Given the description of an element on the screen output the (x, y) to click on. 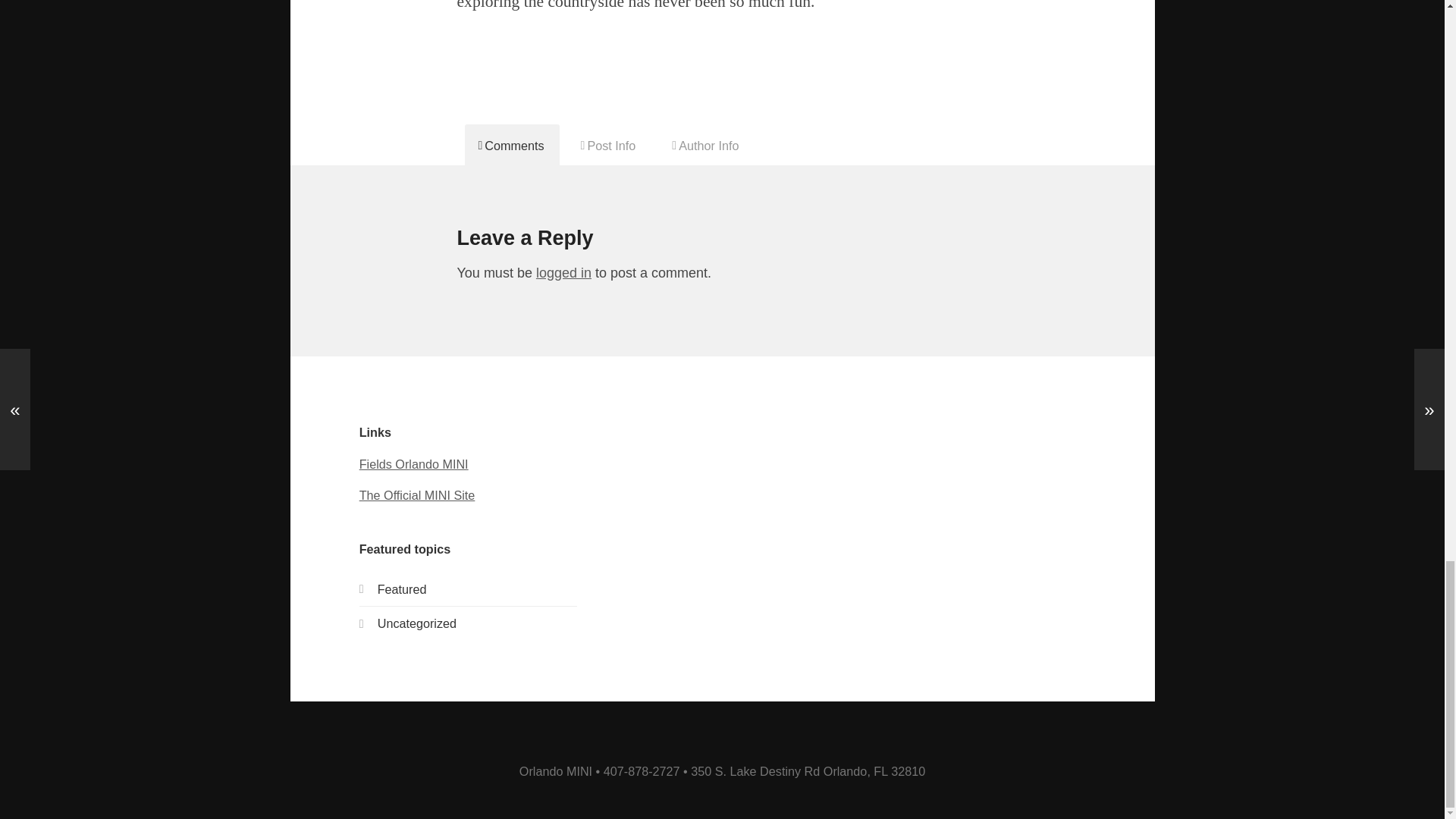
Fields Orlando MINI (413, 463)
Post Info (608, 144)
logged in (563, 272)
Author Info (706, 144)
Comments (511, 144)
